Given the description of an element on the screen output the (x, y) to click on. 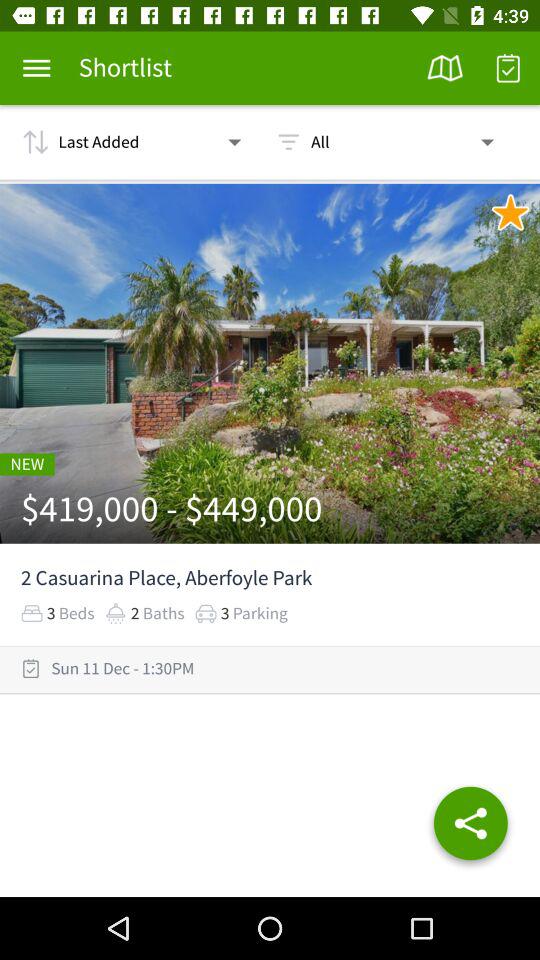
click on the share icon (469, 827)
click on the star symbol (511, 212)
click on the icon left to the text last added (29, 141)
click on the icon beside all on the  top of the web page (288, 141)
